Given the description of an element on the screen output the (x, y) to click on. 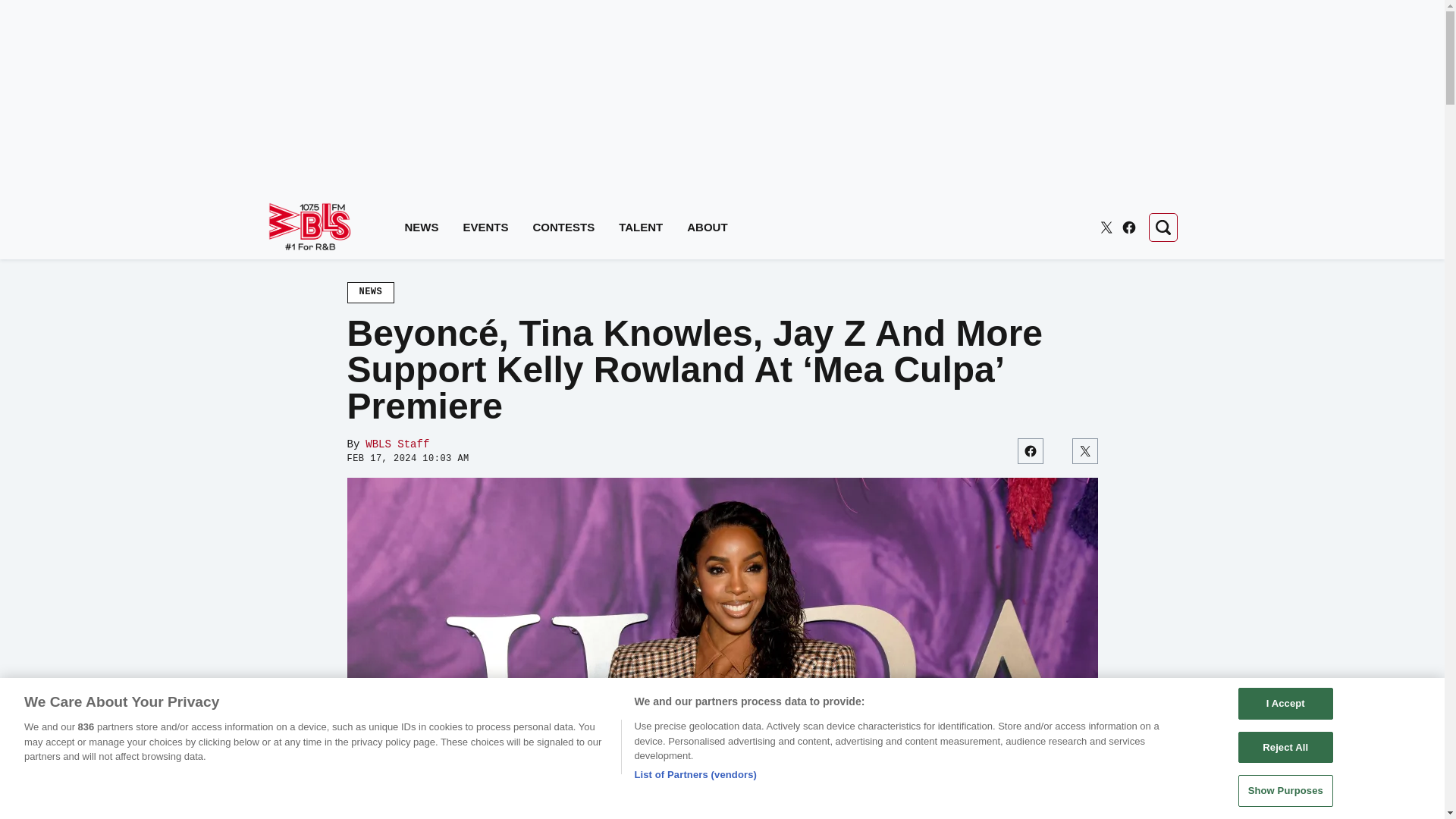
EVENTS (485, 227)
NEWS (370, 292)
Facebook (1128, 227)
X (1105, 227)
ABOUT (706, 227)
TALENT (640, 227)
Posts by WBLS Staff (397, 444)
Search (1162, 226)
NEWS (421, 227)
WBLS Staff (397, 444)
CONTESTS (563, 227)
